Given the description of an element on the screen output the (x, y) to click on. 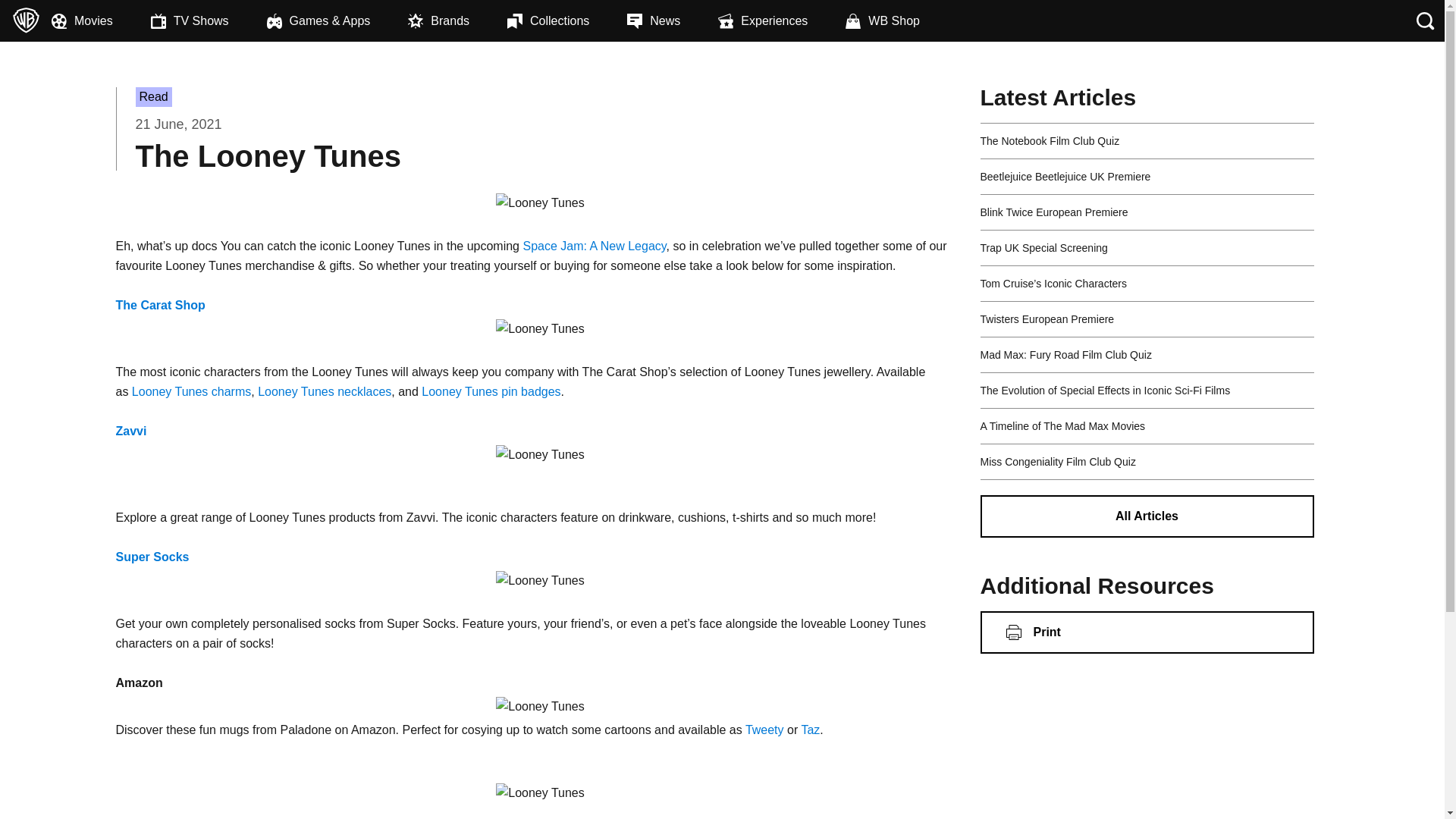
Zavvi (131, 431)
Tweety  (766, 729)
Looney Tunes (540, 706)
Movies (100, 20)
Miss Congeniality Film Club Quiz (1057, 461)
Twisters European Premiere (1046, 318)
Beetlejuice Beetlejuice UK Premiere (1064, 175)
Taz (809, 729)
WB Shop (901, 20)
Looney Tunes (540, 792)
